Given the description of an element on the screen output the (x, y) to click on. 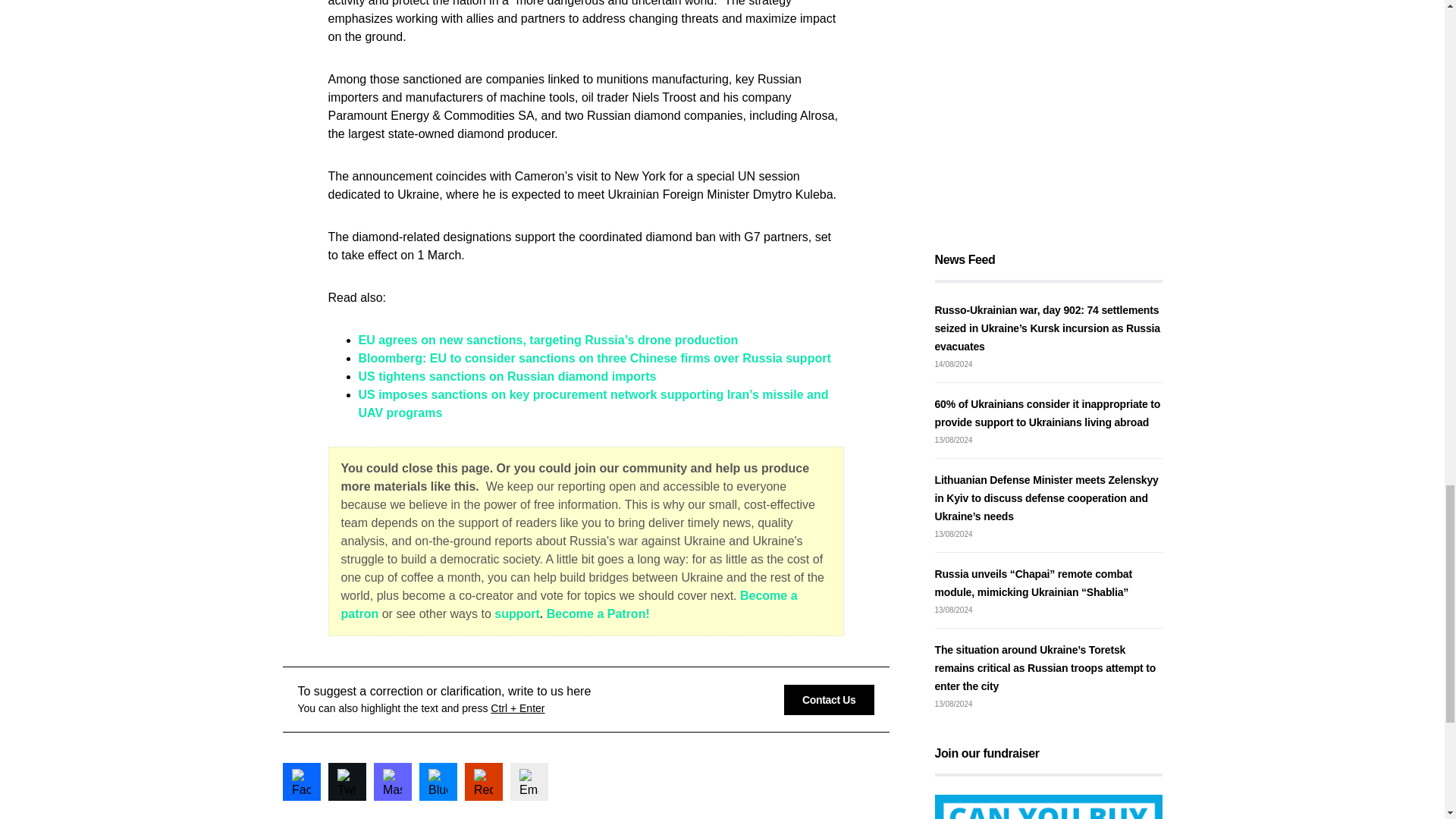
Share to Mastodon (391, 781)
Share to Bluesky (438, 781)
Share to Reddit (483, 781)
Share to Email (528, 781)
Share to Facebook (301, 781)
Share to Twitter (346, 781)
